Given the description of an element on the screen output the (x, y) to click on. 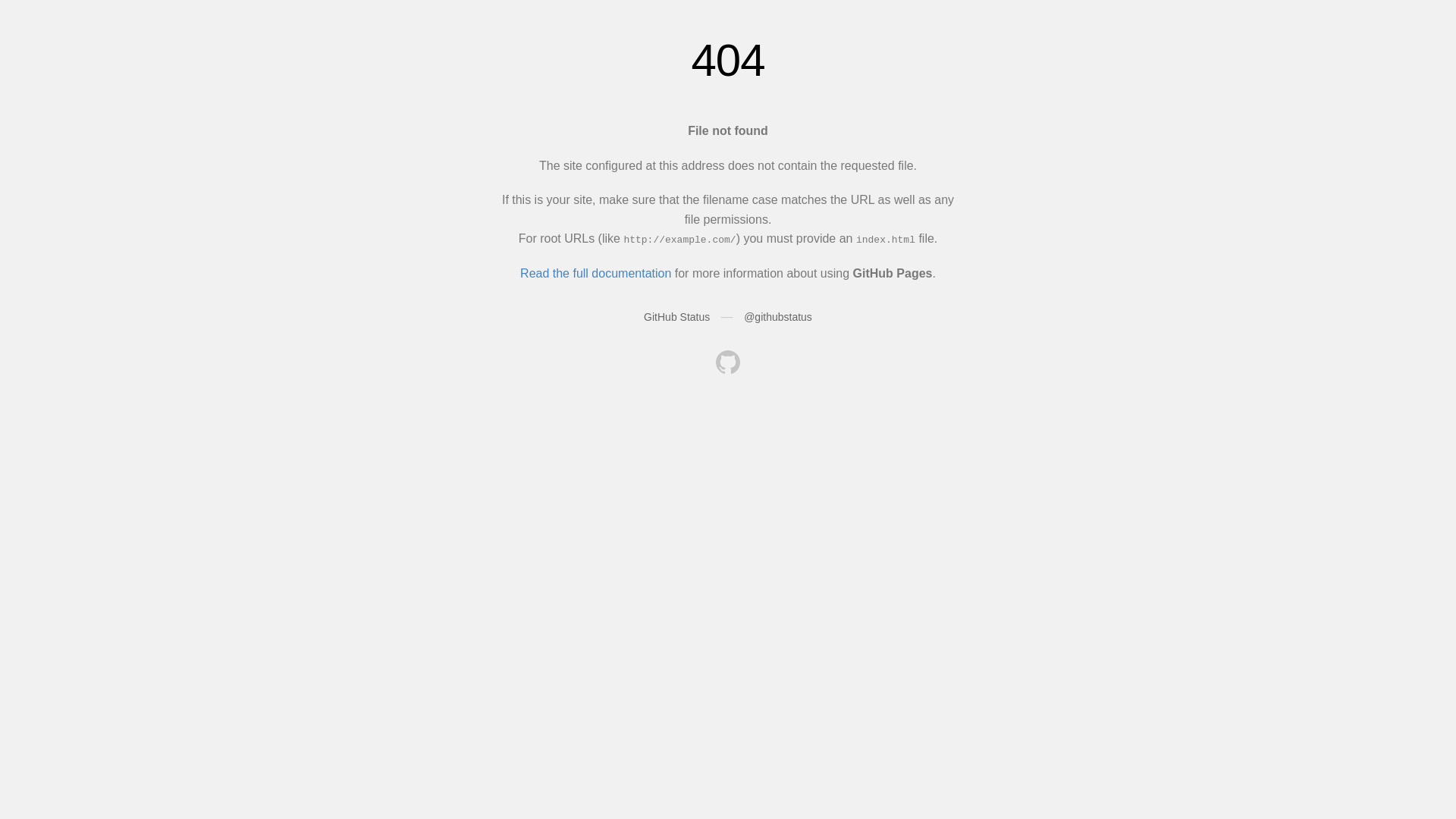
@githubstatus Element type: text (777, 316)
GitHub Status Element type: text (676, 316)
Read the full documentation Element type: text (595, 272)
